Given the description of an element on the screen output the (x, y) to click on. 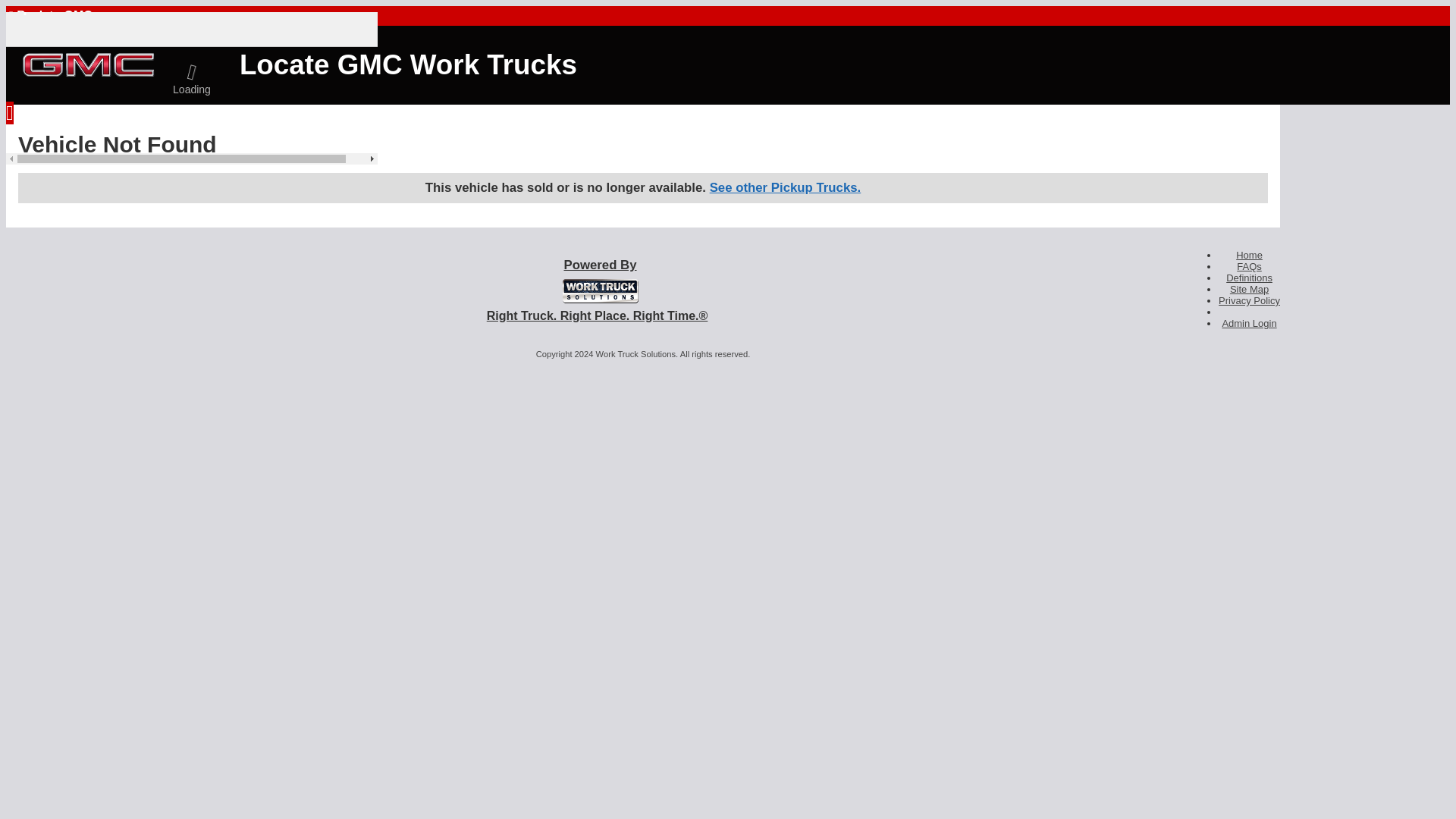
FAQs (1249, 266)
Privacy Policy (1248, 300)
Site Map (1249, 288)
Home (1249, 255)
Admin Login (1248, 323)
Definitions (1248, 277)
Locate GMC Work Trucks (371, 64)
See other Pickup Trucks. (785, 187)
